Given the description of an element on the screen output the (x, y) to click on. 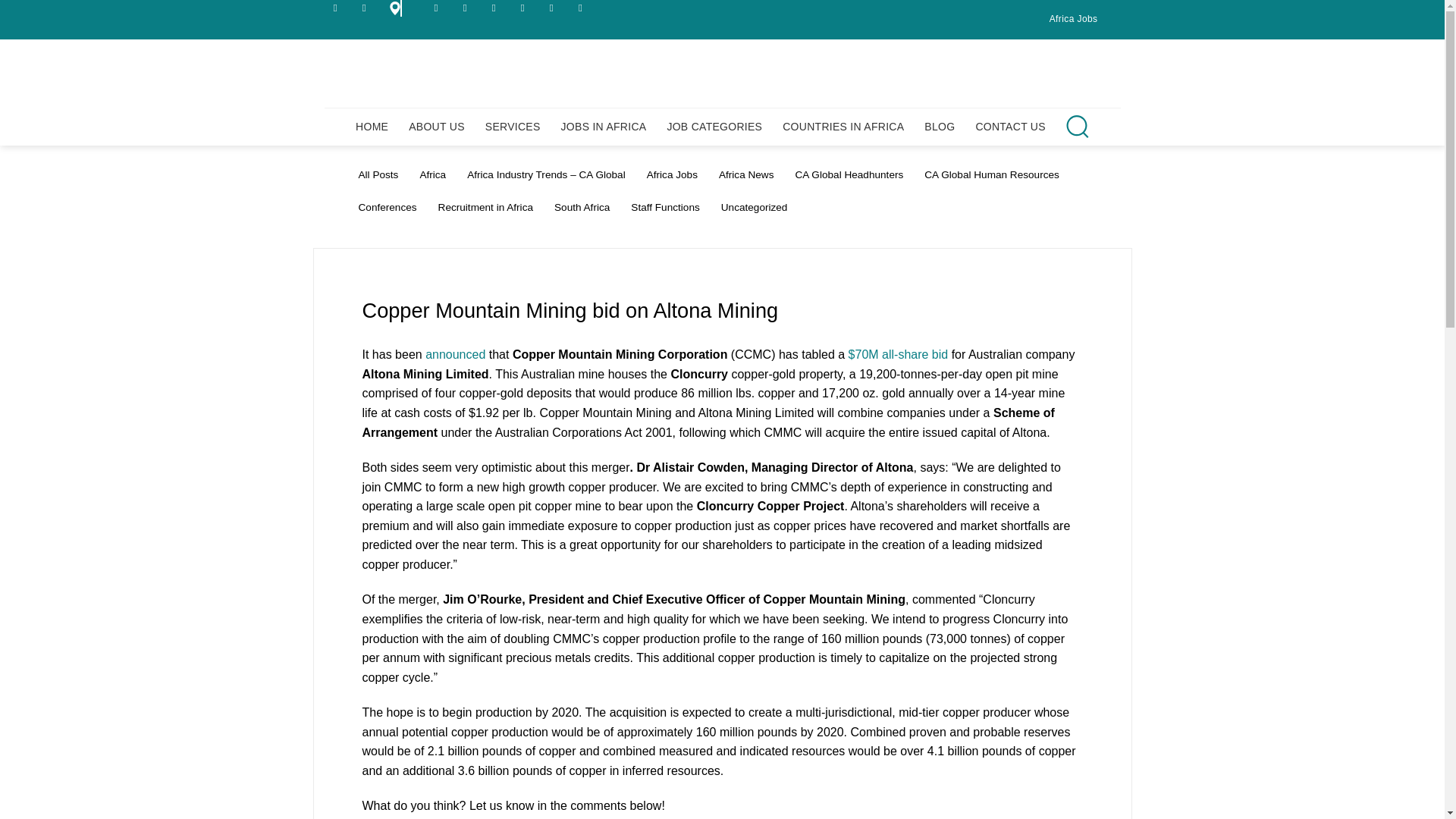
ABOUT US (436, 126)
HOME (371, 126)
Follow on YouTube (583, 8)
Follow on Twitter (497, 8)
JOB CATEGORIES (713, 126)
Follow on Facebook (439, 8)
JOBS IN AFRICA (603, 126)
CA Global - Jobs in Africa (721, 72)
Africa Jobs (1073, 18)
SERVICES (512, 126)
Follow on Instagram (468, 8)
Send us an email (367, 8)
Call us (338, 8)
Subscribe to RSS (526, 8)
Follow on LinkedIn (555, 8)
